Given the description of an element on the screen output the (x, y) to click on. 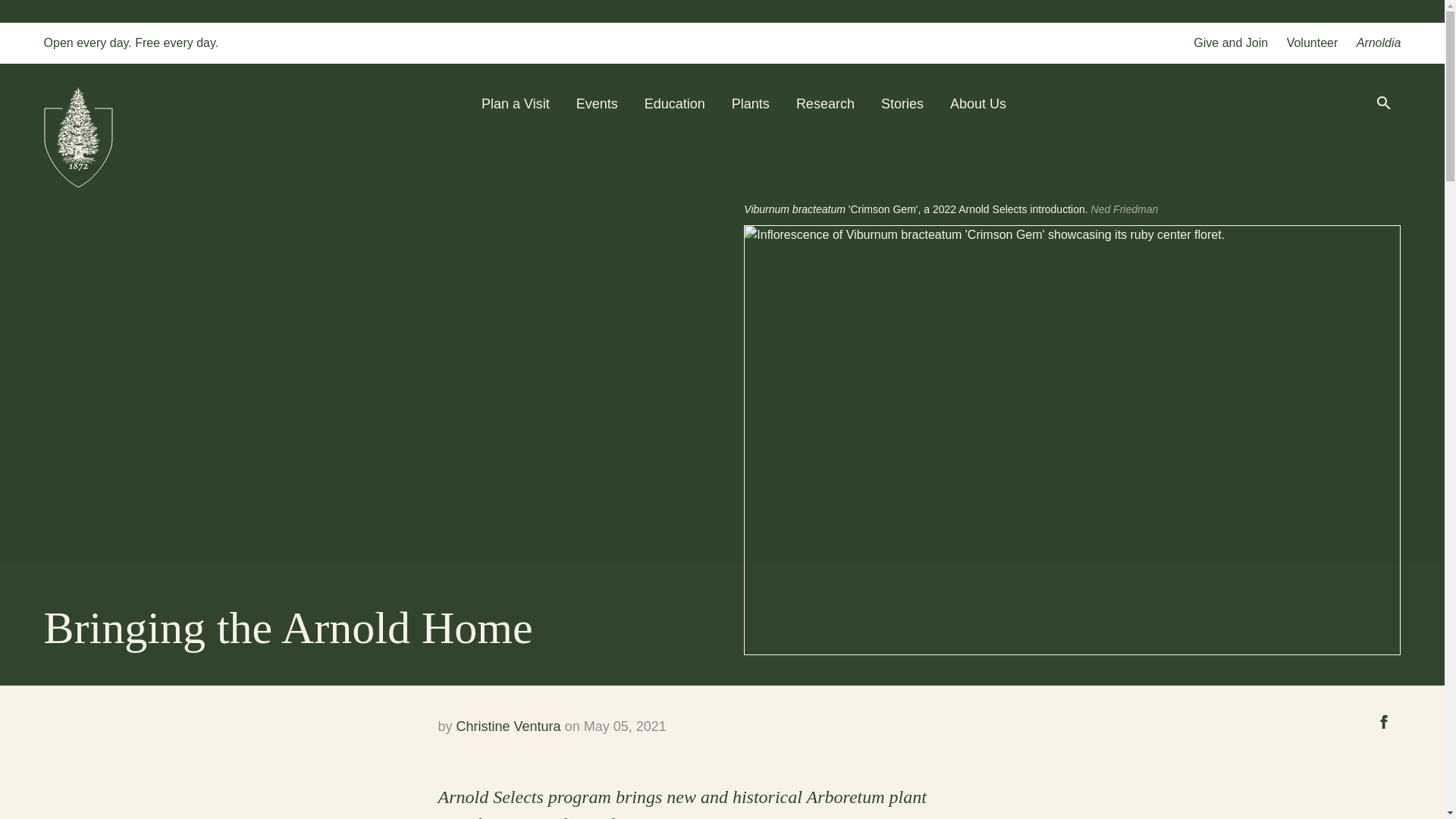
Arnoldia (1378, 42)
Give and Join (1230, 42)
Share on Facebook (1383, 721)
About Us (978, 103)
Education (674, 103)
Christine Ventura (508, 726)
Open every day. Free every day. (131, 42)
Stories (901, 103)
Events (596, 103)
Plants (751, 103)
Research (825, 103)
Plan a Visit (515, 103)
Volunteer (1312, 42)
